Given the description of an element on the screen output the (x, y) to click on. 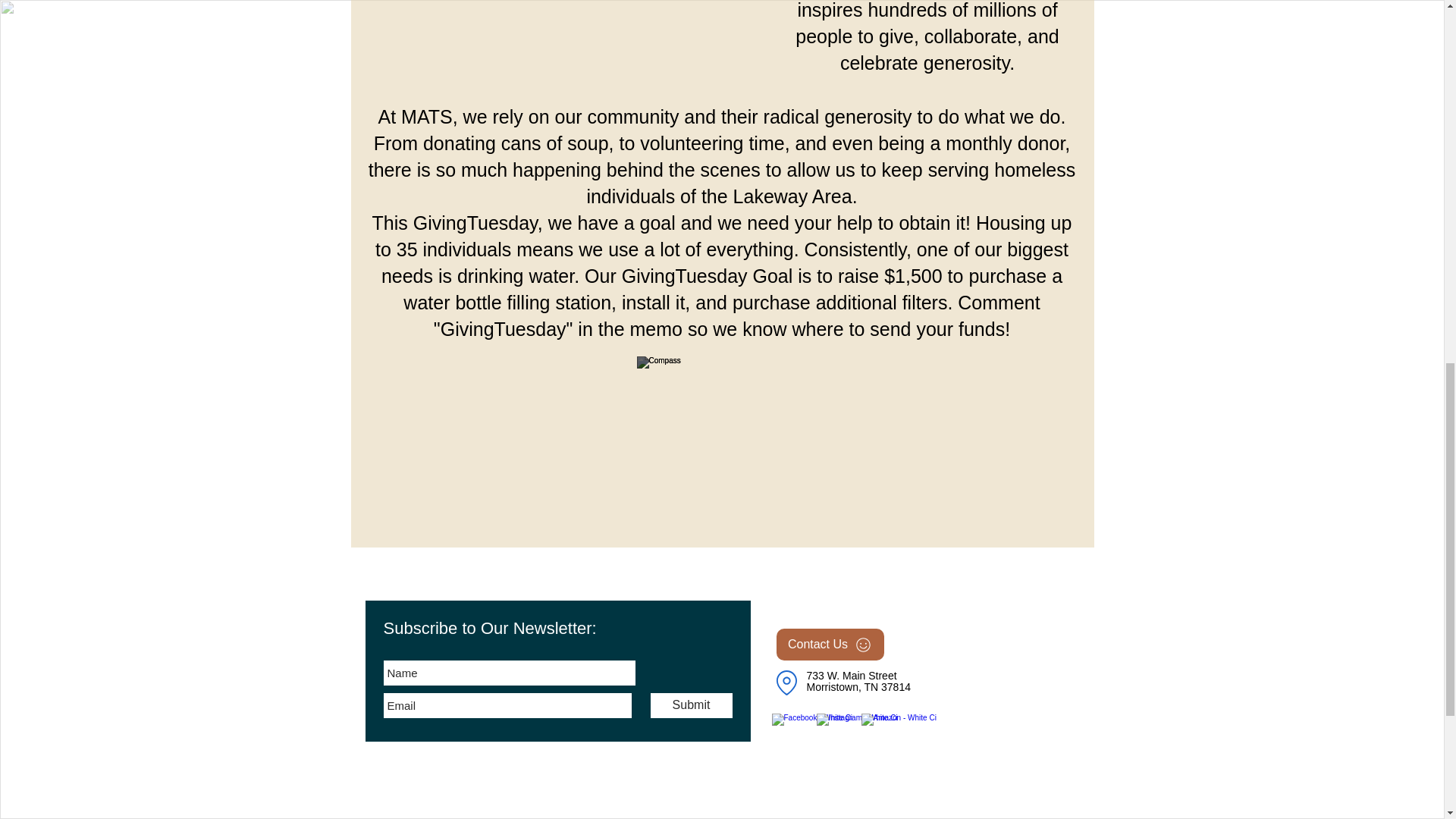
Submit (691, 705)
Contact Us (829, 644)
